Given the description of an element on the screen output the (x, y) to click on. 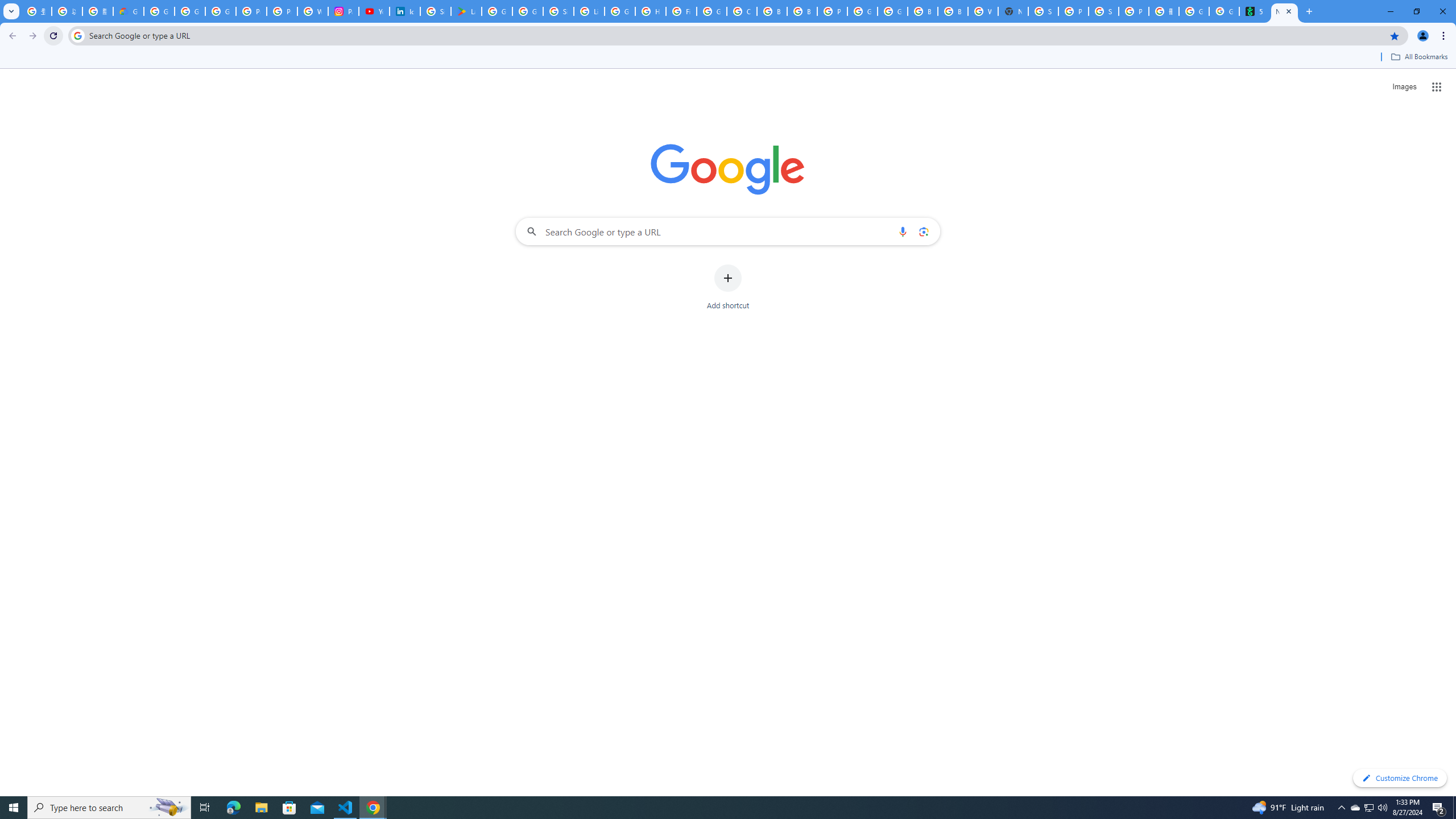
Identity verification via Persona | LinkedIn Help (404, 11)
Sign in - Google Accounts (1042, 11)
Browse Chrome as a guest - Computer - Google Chrome Help (952, 11)
Google Cloud Platform (892, 11)
Customize Chrome (1399, 778)
YouTube Culture & Trends - On The Rise: Handcam Videos (373, 11)
Search for Images  (1403, 87)
